Given the description of an element on the screen output the (x, y) to click on. 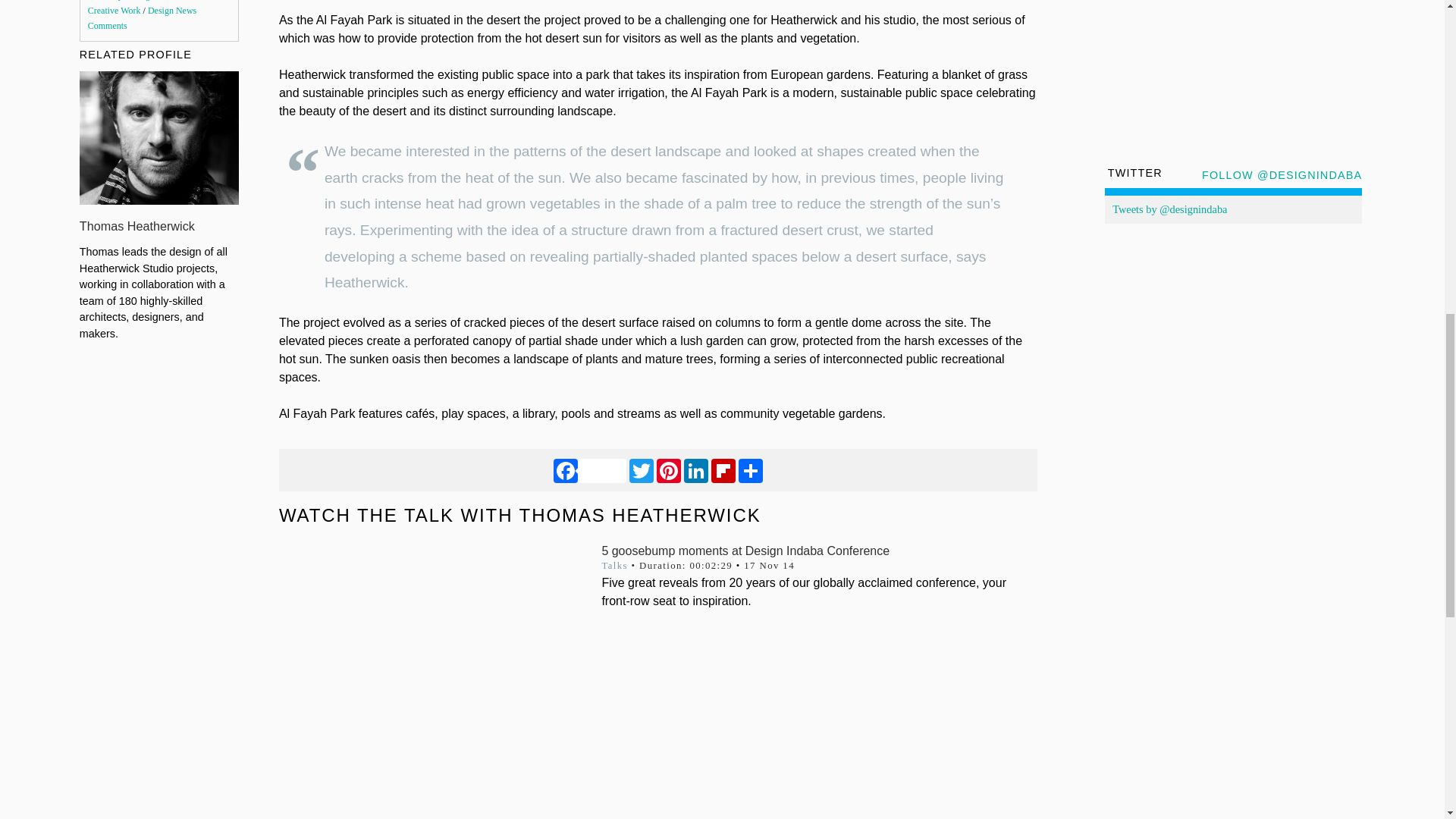
Thomas Heatherwick (137, 225)
Design News (172, 9)
Creative Work (114, 9)
Facebook (589, 470)
Comments (107, 25)
